Given the description of an element on the screen output the (x, y) to click on. 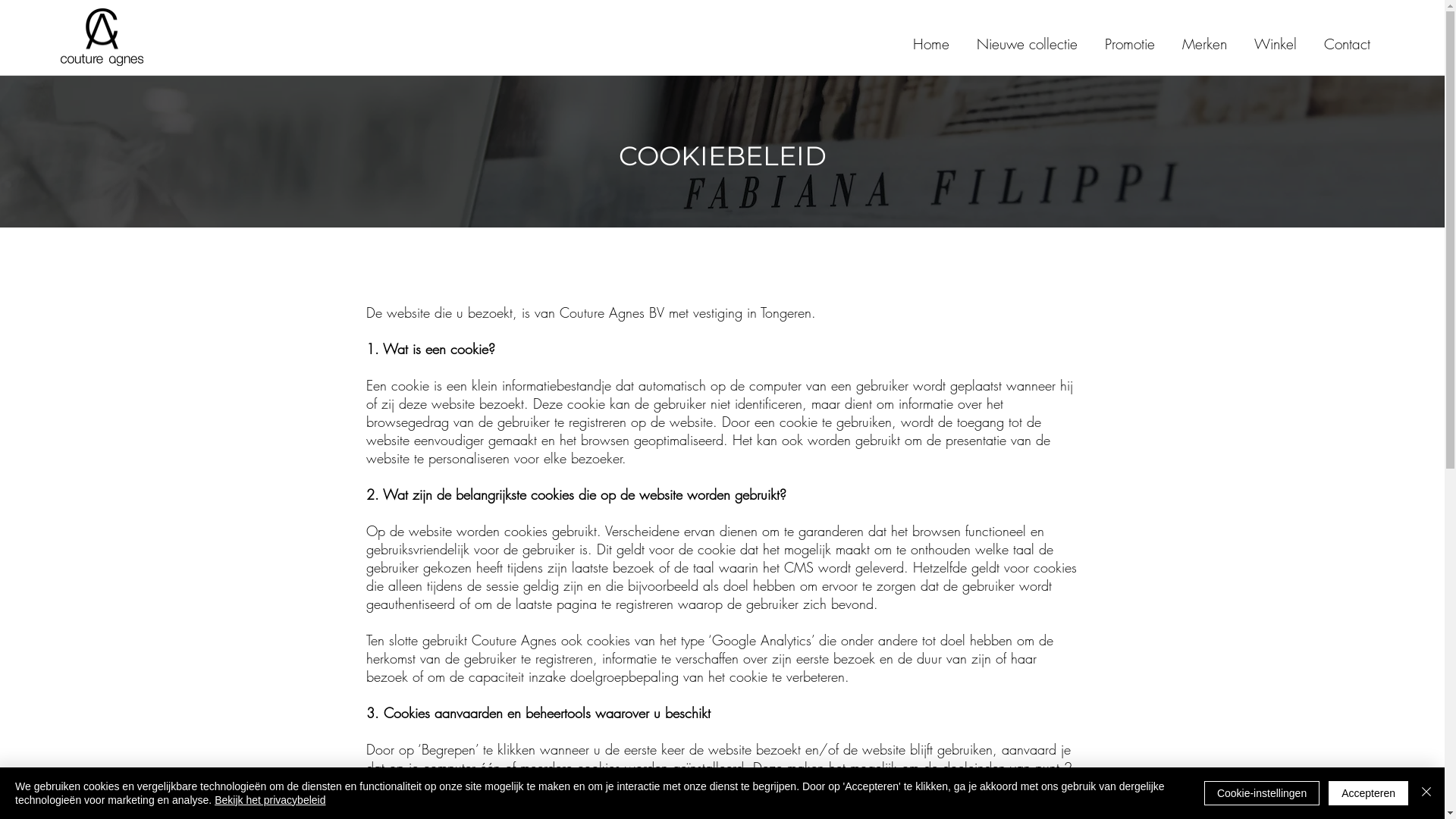
Bekijk het privacybeleid Element type: text (269, 799)
Nieuwe collectie Element type: text (1027, 36)
Cookie-instellingen Element type: text (1261, 793)
Promotie Element type: text (1129, 36)
Contact Element type: text (1346, 36)
Home Element type: text (931, 36)
Couture Agnes Element type: hover (101, 36)
Accepteren Element type: text (1368, 793)
Merken Element type: text (1204, 36)
Winkel Element type: text (1275, 36)
